Given the description of an element on the screen output the (x, y) to click on. 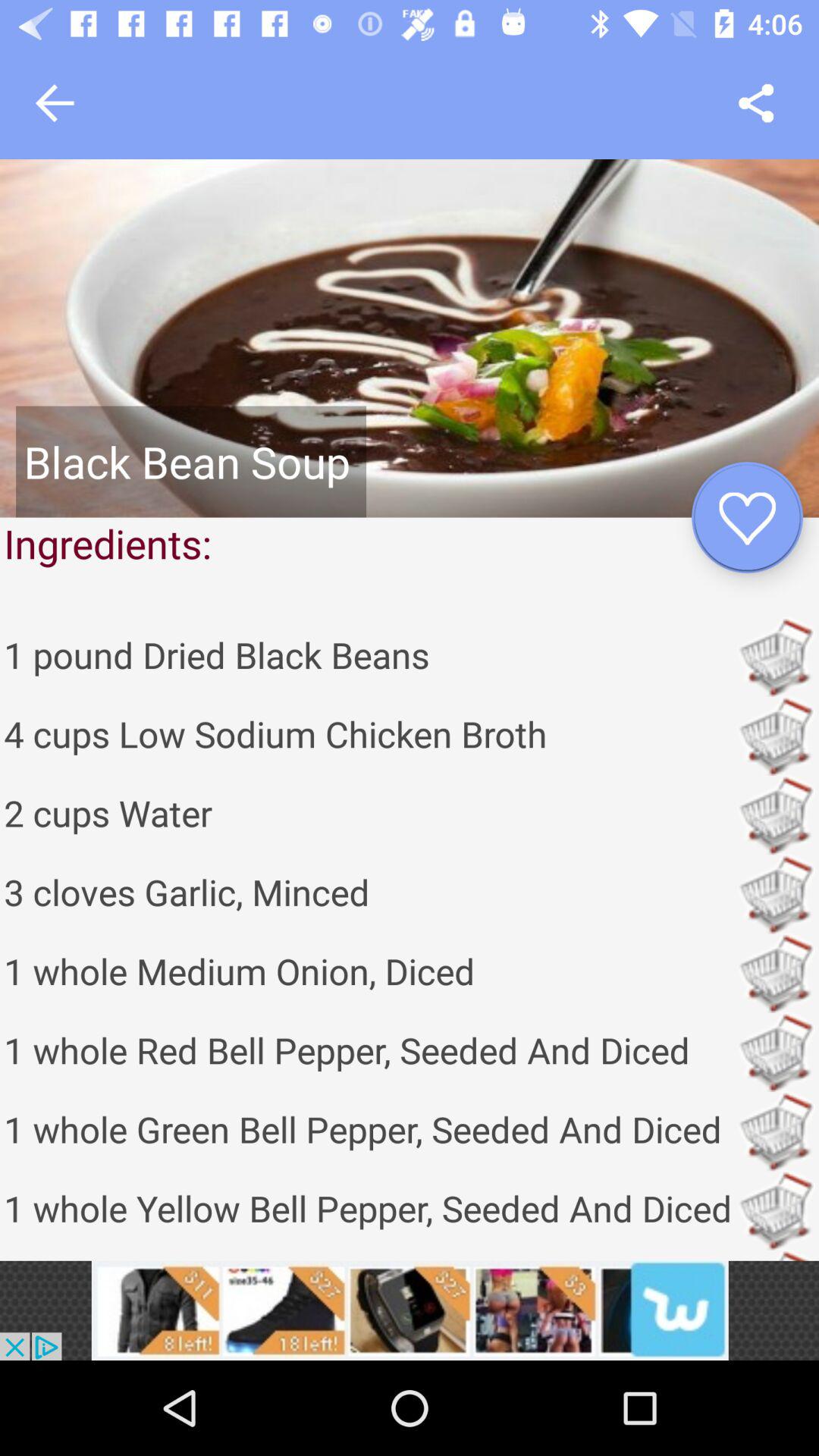
go to the icon on the top left corner (54, 103)
click on share icon (756, 103)
